Given the description of an element on the screen output the (x, y) to click on. 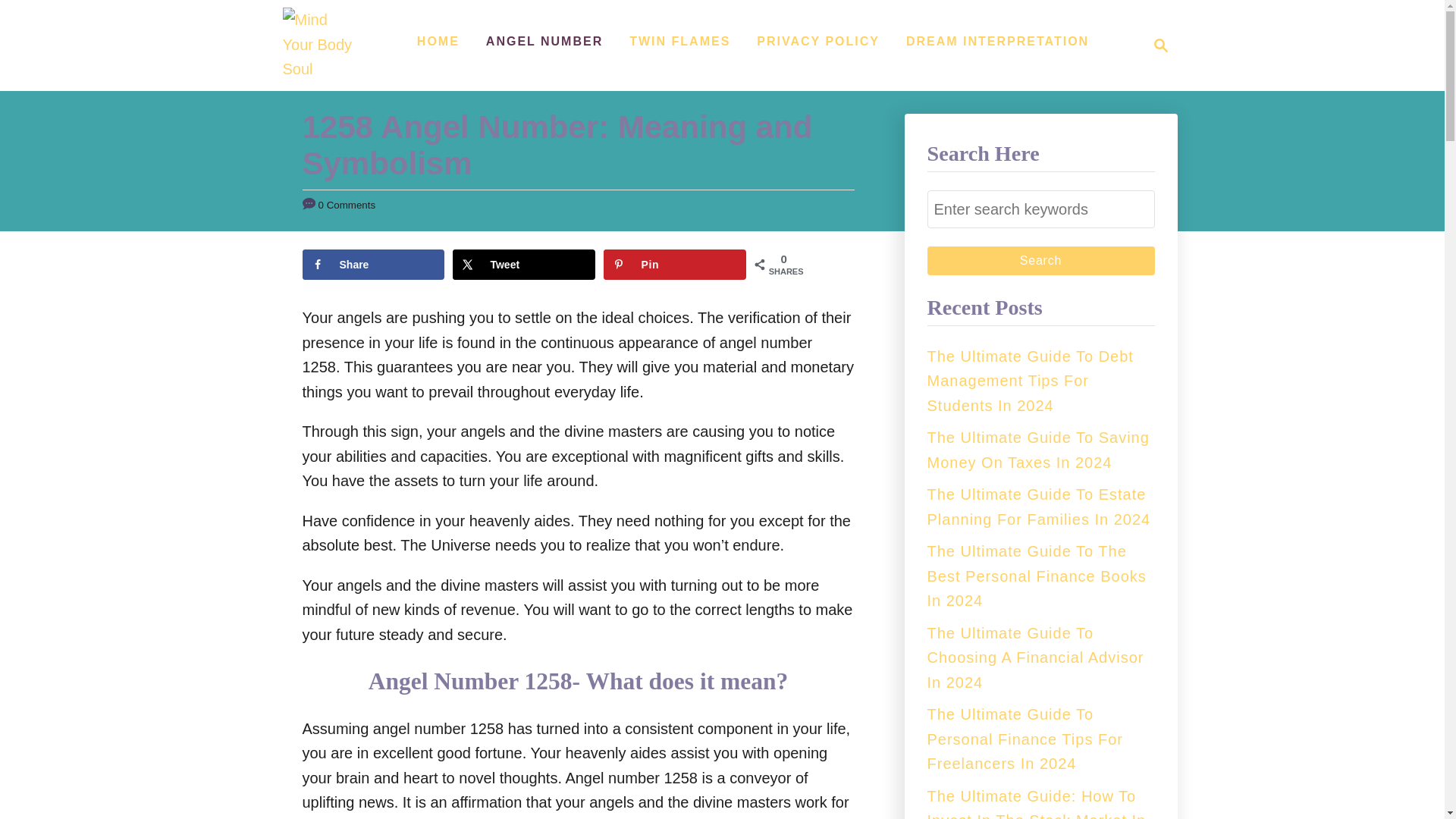
TWIN FLAMES (679, 41)
Tweet (523, 264)
Mind Your Body Soul (320, 45)
Share on X (523, 264)
DREAM INTERPRETATION (1155, 45)
Search (997, 41)
The Ultimate Guide To Choosing A Financial Advisor In 2024 (1040, 260)
